Given the description of an element on the screen output the (x, y) to click on. 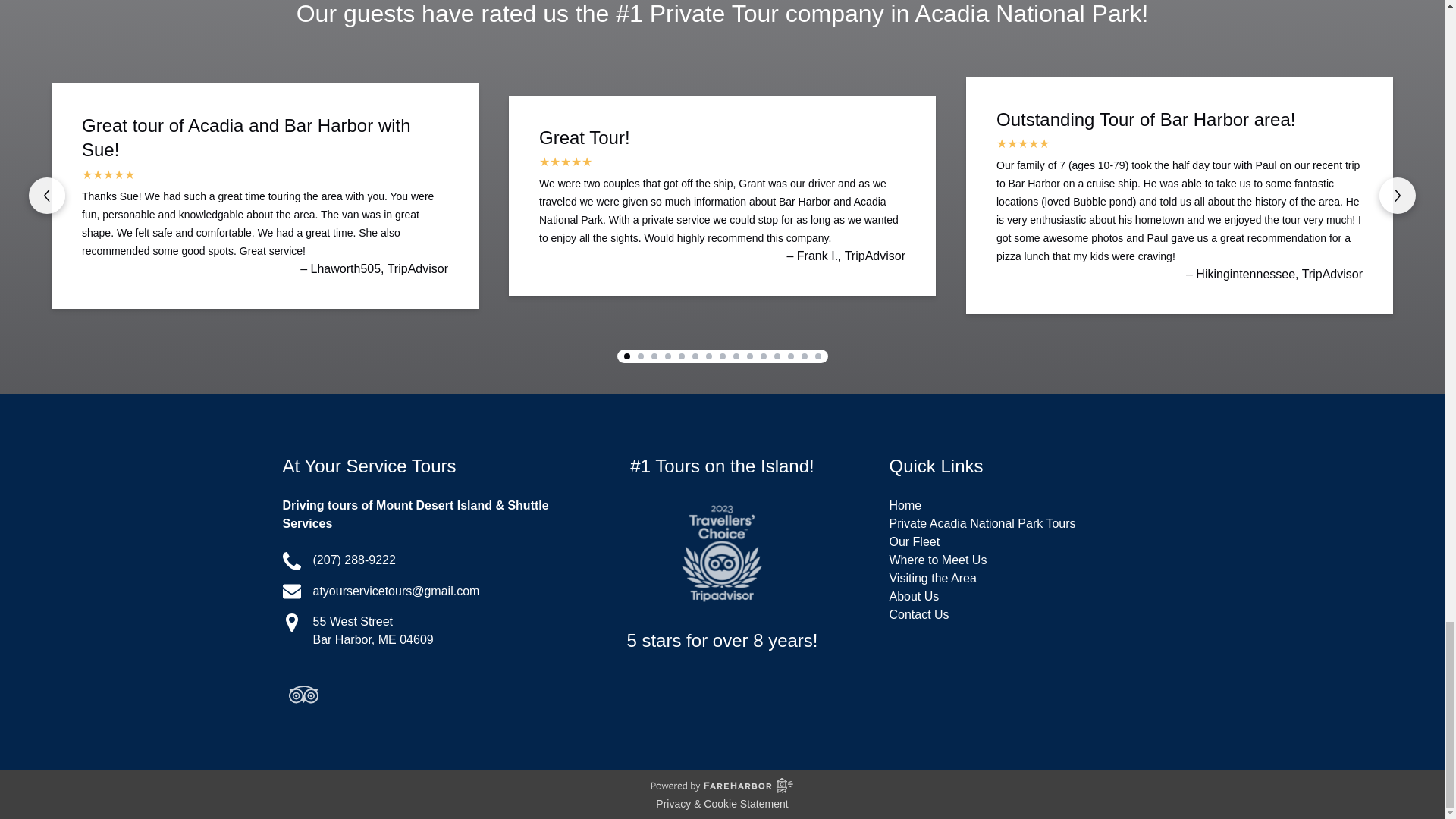
Envelope (290, 591)
Map Marker (290, 622)
Phone (290, 561)
